Given the description of an element on the screen output the (x, y) to click on. 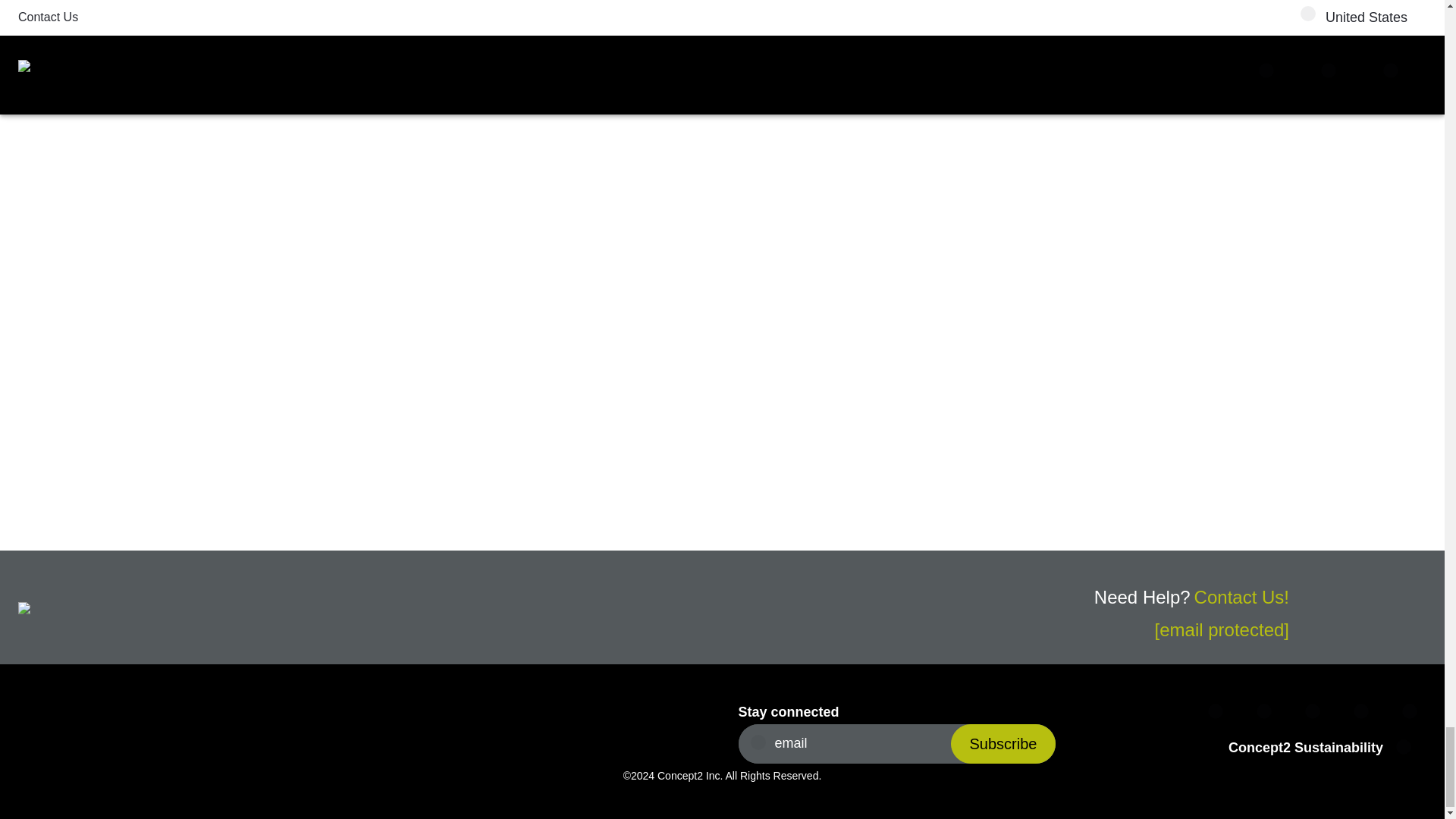
Follow us on LinkedIn! (1365, 712)
Follow us on YouTube! (1414, 712)
Follow us on Instagram! (1316, 712)
Subscribe (1003, 743)
Follow us on Facebook! (1219, 712)
Contact Us! (1240, 597)
